Given the description of an element on the screen output the (x, y) to click on. 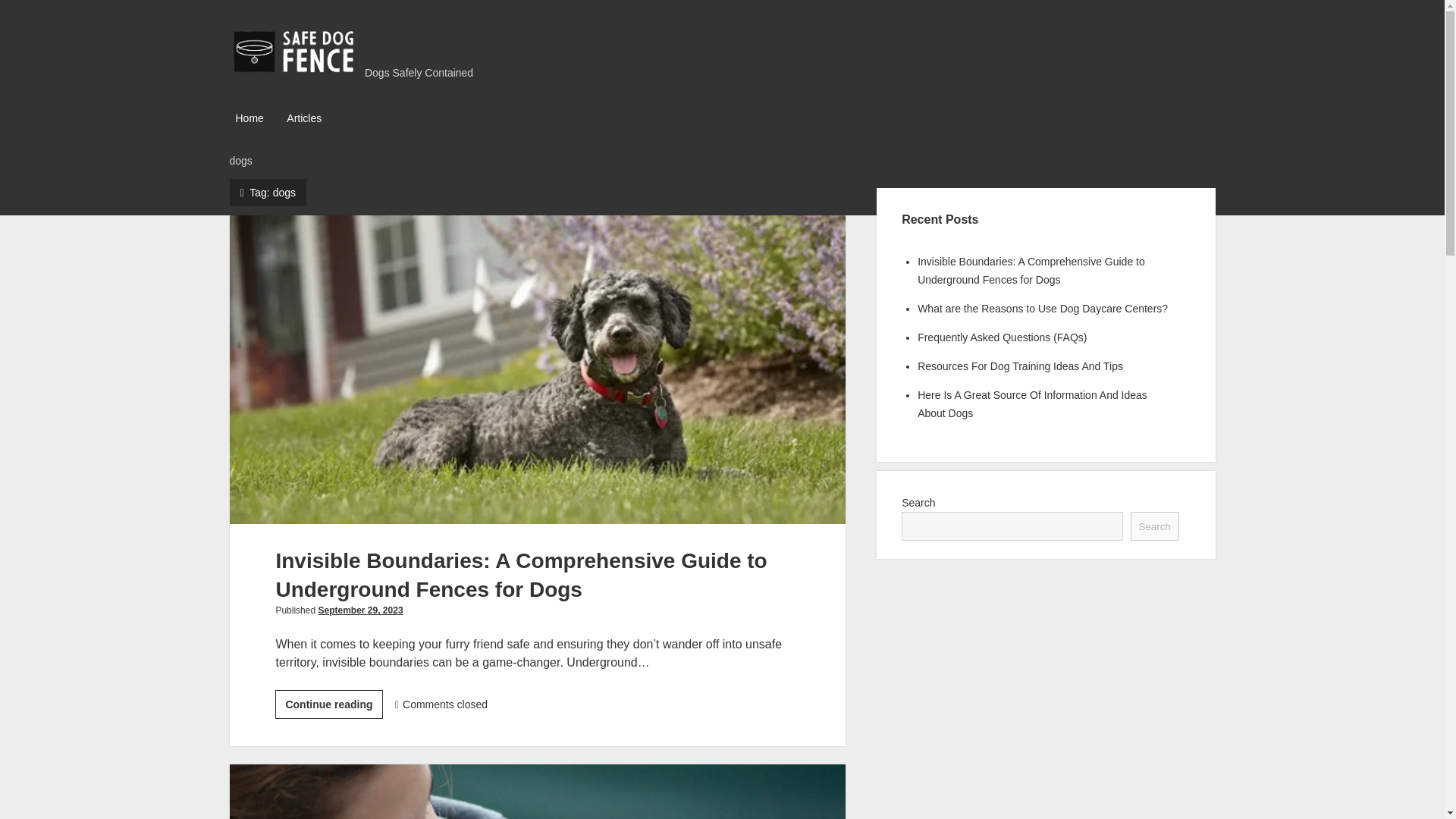
Search (1155, 525)
Home (248, 118)
Articles (304, 118)
September 29, 2023 (360, 610)
Safe Dog Fence (292, 70)
Here Is A Great Source Of Information And Ideas About Dogs (1032, 404)
Resources For Dog Training Ideas And Tips (1019, 366)
What are the Reasons to Use Dog Daycare Centers? (536, 791)
What are the Reasons to Use Dog Daycare Centers? (1042, 308)
